Given the description of an element on the screen output the (x, y) to click on. 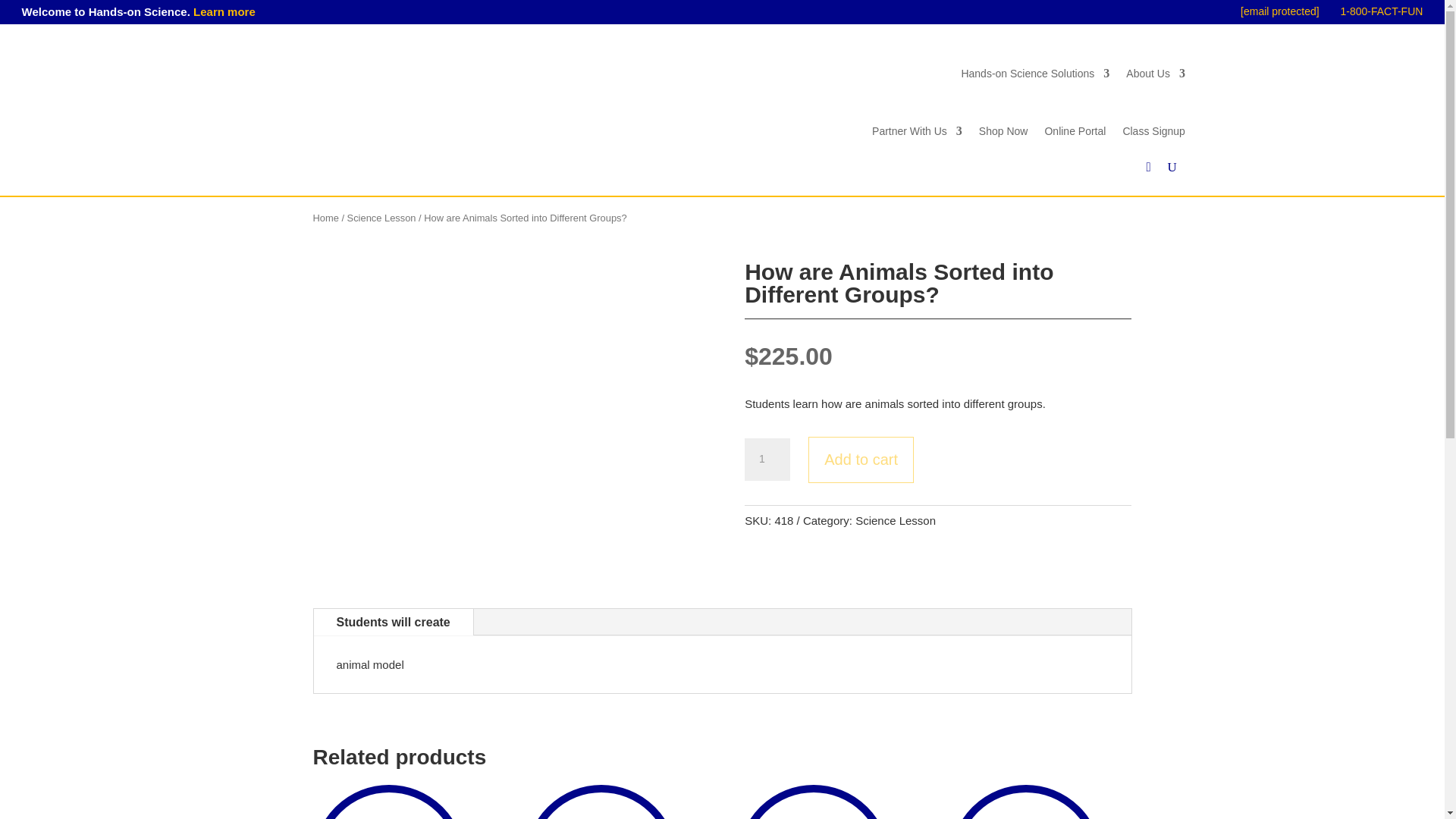
1-800-FACT-FUN (1380, 10)
Home (325, 217)
1 (767, 459)
Hands-on Science Solutions (1034, 73)
Students will create (393, 622)
Online Portal (1074, 130)
Science Lesson (381, 217)
About Us (1155, 73)
Partner With Us (917, 130)
Add to cart (861, 459)
Science Lesson (896, 520)
Class Signup (1153, 130)
Learn more (224, 11)
